Given the description of an element on the screen output the (x, y) to click on. 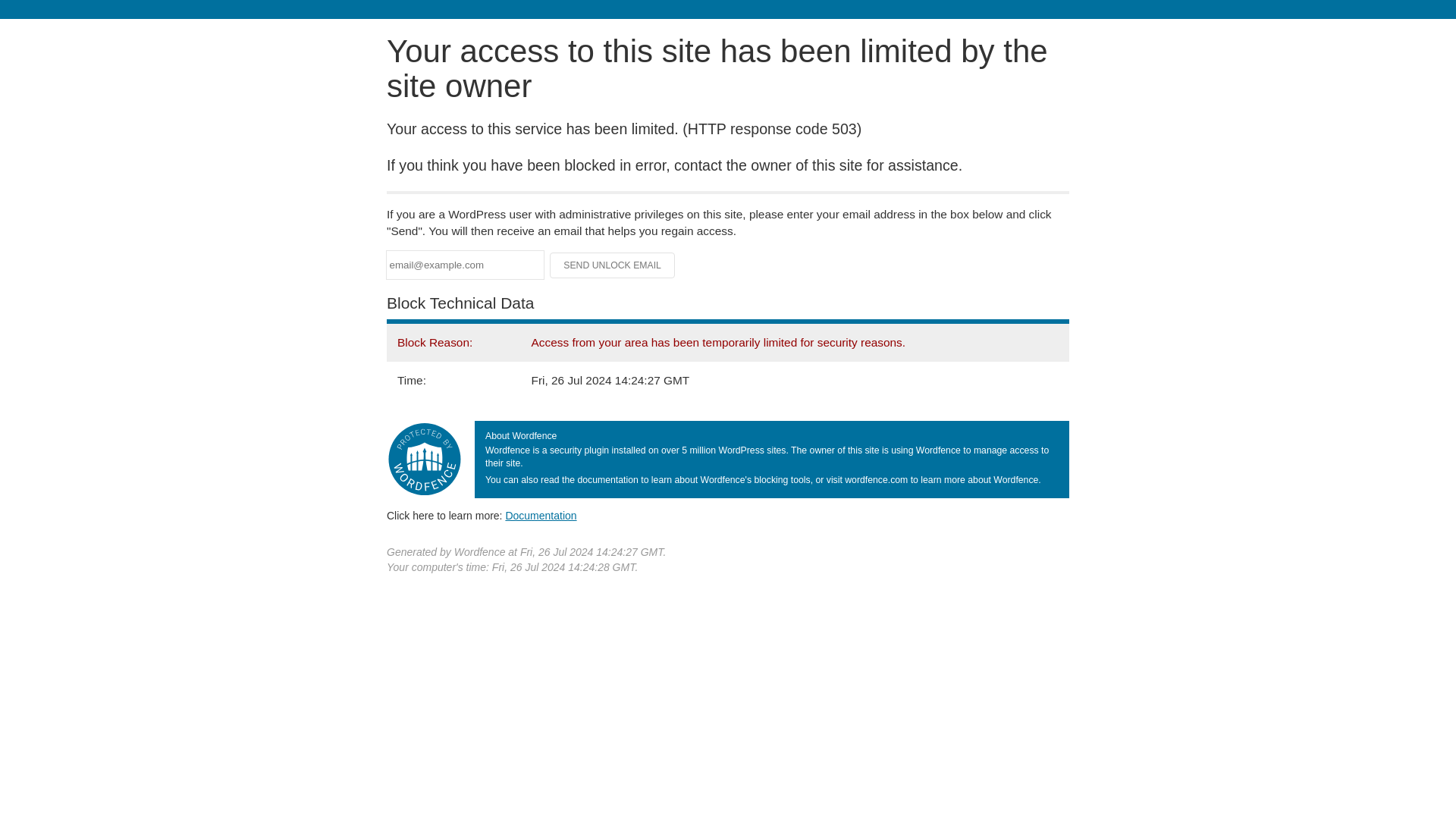
Send Unlock Email (612, 265)
Documentation (540, 515)
Send Unlock Email (612, 265)
